Given the description of an element on the screen output the (x, y) to click on. 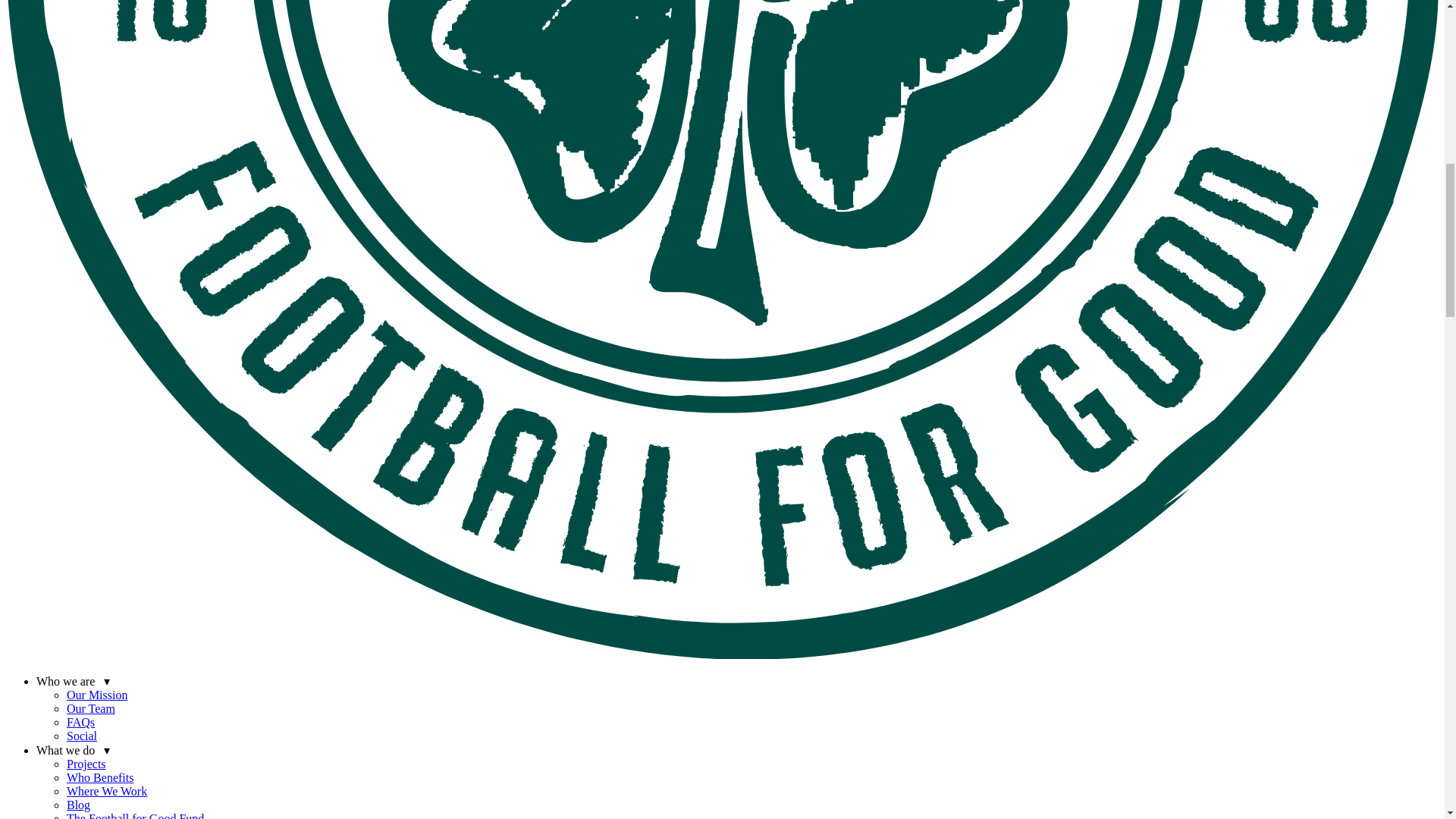
Projects (86, 763)
Our Mission (97, 694)
Our Team (90, 707)
Social (81, 735)
The Football for Good Fund (134, 815)
Who Benefits (99, 777)
FAQs (80, 721)
Blog (78, 804)
Where We Work (106, 790)
